Given the description of an element on the screen output the (x, y) to click on. 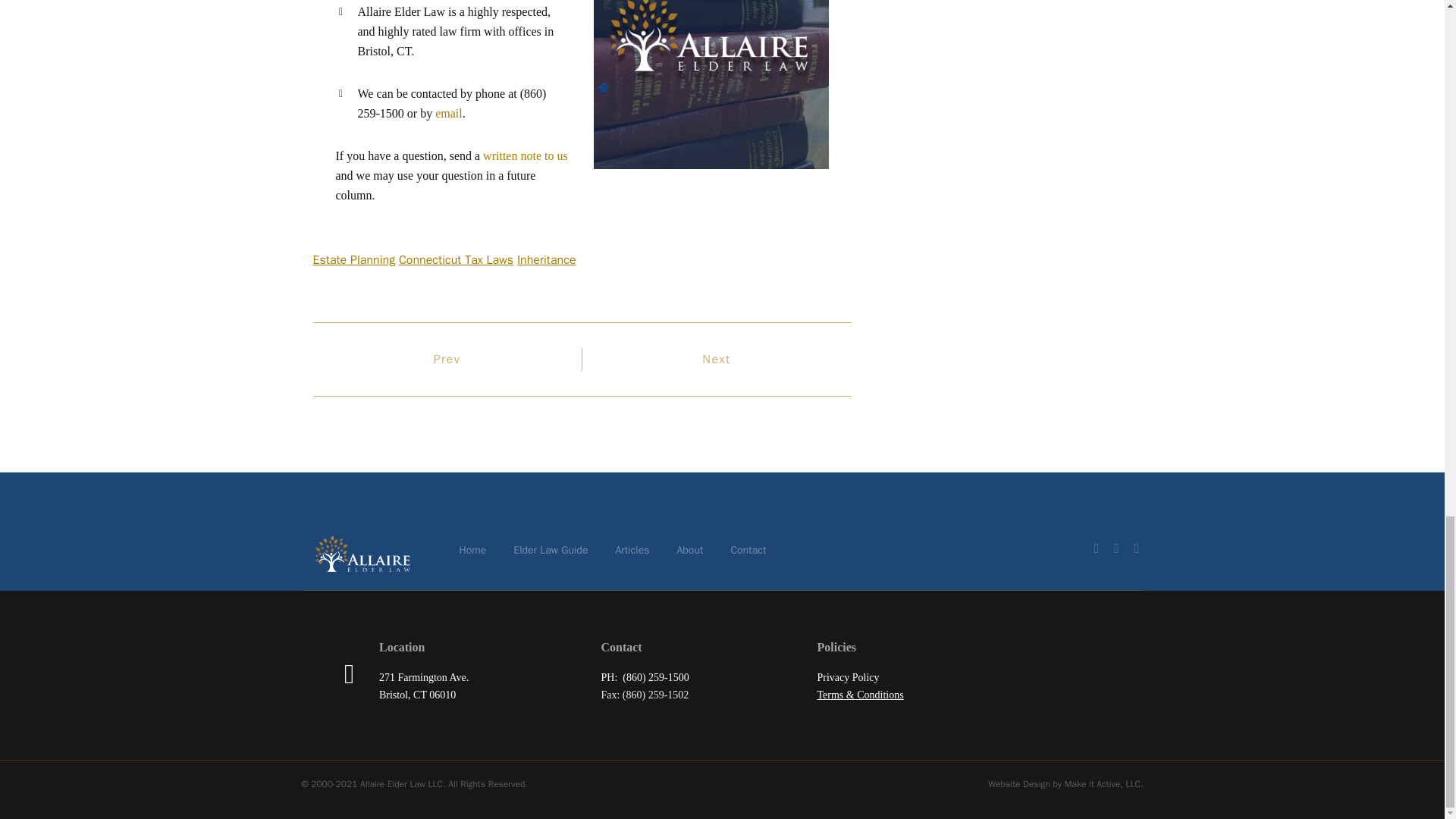
email (449, 113)
